Given the description of an element on the screen output the (x, y) to click on. 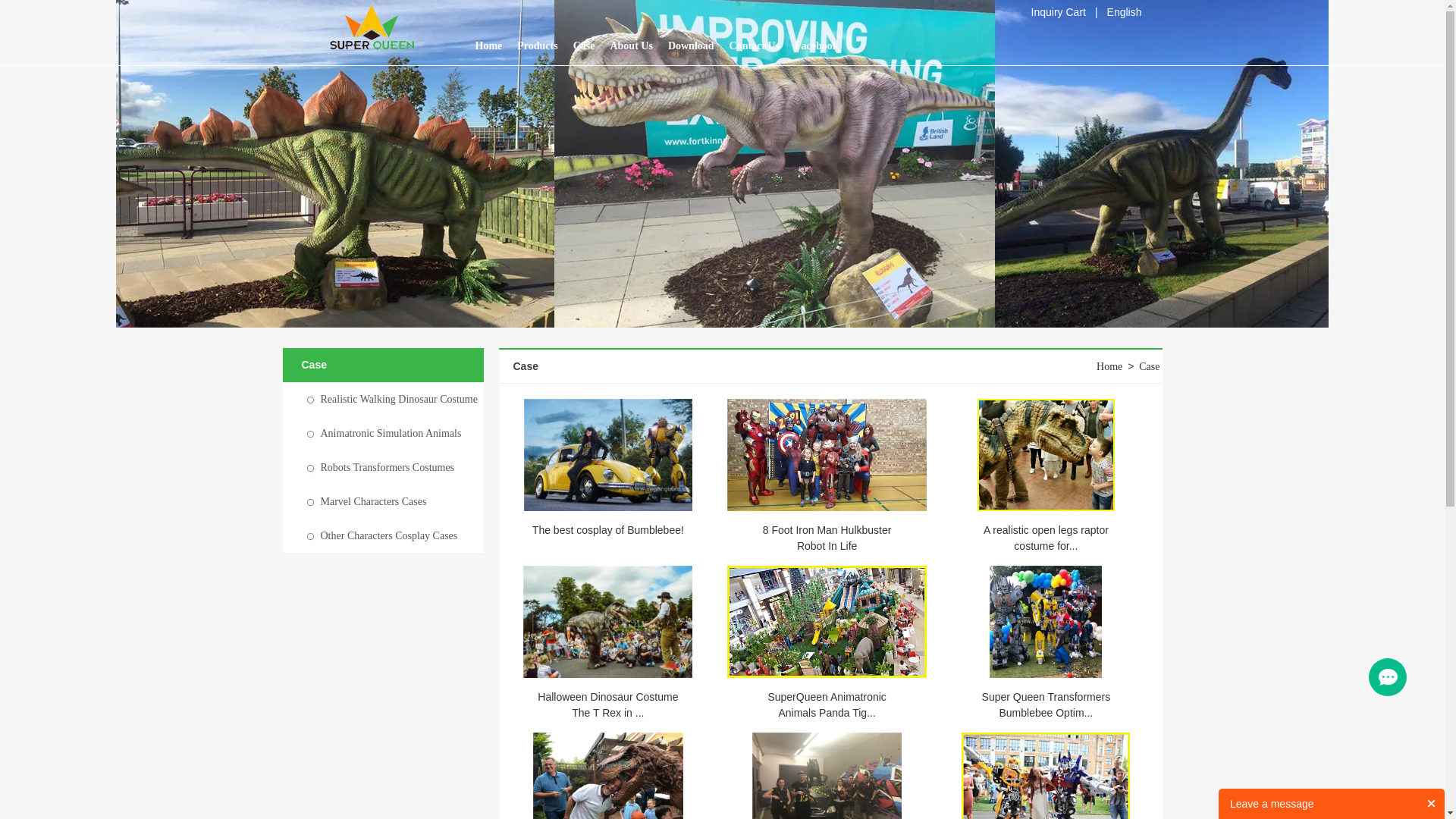
Case Element type: text (584, 45)
8 Foot Iron Man Hulkbuster Robot In Life Element type: text (826, 538)
Case Element type: text (1149, 366)
Contact Us Element type: text (754, 45)
8 Foot Iron Man Hulkbuster Robot In Life Element type: hover (826, 454)
Products Element type: text (537, 45)
Kids had a great time with the hairy Tyrannosaurus rex in UK Element type: hover (607, 787)
SuperQueen Animatronic Animals Panda Tig... Element type: text (826, 704)
Halloween Dinosaur Costume The T Rex in ... Element type: text (607, 704)
Home Element type: text (488, 45)
Home Element type: text (1109, 366)
8 Foot Iron Man Hulkbuster Robot In Life Element type: hover (826, 454)
Realistic Walking Dinosaur Costume Successful Case Element type: text (379, 416)
Marvel Characters Cases Element type: text (373, 501)
A realistic open legs raptor costume for... Element type: text (1045, 538)
The best cosplay of Bumblebee! Element type: hover (608, 454)
Halloween Dinosaur Costume The T Rex in UK Element type: hover (607, 621)
Super Queen Transformers Bumblebee Optimus prime in Element type: hover (1045, 621)
About Us Element type: text (630, 45)
Robots Transformers Costumes Successful Case Element type: text (368, 484)
The best cosplay of Bumblebee! Element type: text (608, 530)
Other Characters Cosplay Cases Element type: text (388, 535)
English Element type: text (1124, 12)
Alien appeared in a shooting gallery in Switzerland Element type: hover (826, 787)
Animatronic Simulation Animals Case Element type: text (371, 450)
Download Element type: text (691, 45)
Facebook Element type: text (816, 45)
The best cosplay of Bumblebee! Element type: hover (608, 454)
Inquiry Cart Element type: text (1058, 12)
Super Queen Transformers Bumblebee Optim... Element type: text (1046, 704)
Super Queen Transformers Bumblebee Optimus prime in Element type: hover (1045, 621)
Halloween Dinosaur Costume The T Rex in UK Element type: hover (607, 621)
